Given the description of an element on the screen output the (x, y) to click on. 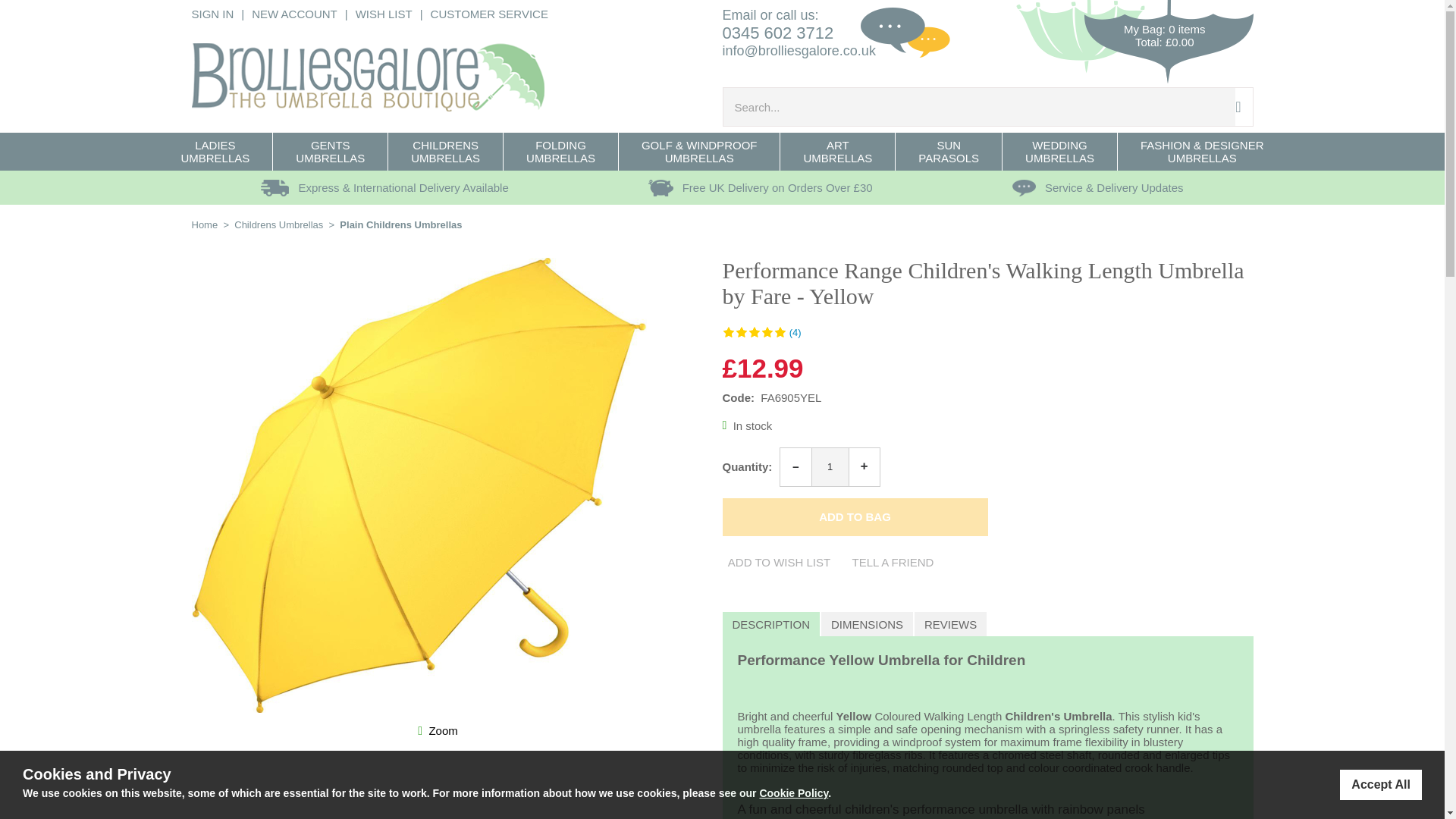
1 (829, 466)
ADD TO BAG (854, 516)
ADD TO WISH LIST (778, 562)
TELL A FRIEND (892, 562)
REVIEWS (950, 624)
DESCRIPTION (771, 624)
DIMENSIONS (867, 624)
Zoom (442, 730)
